Given the description of an element on the screen output the (x, y) to click on. 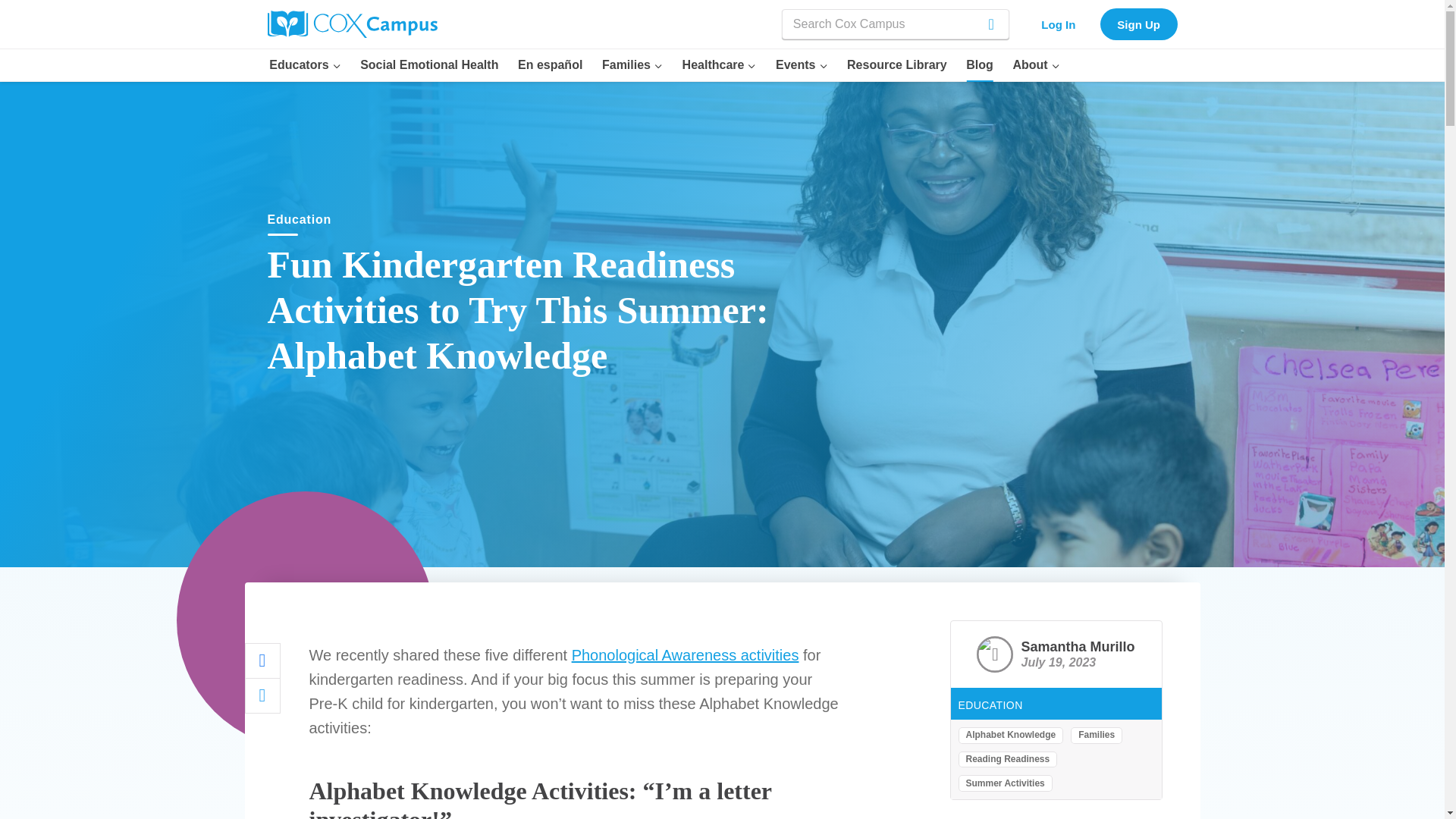
Educators (304, 65)
Log In (1059, 23)
Search (979, 24)
Sign Up (1138, 23)
